Given the description of an element on the screen output the (x, y) to click on. 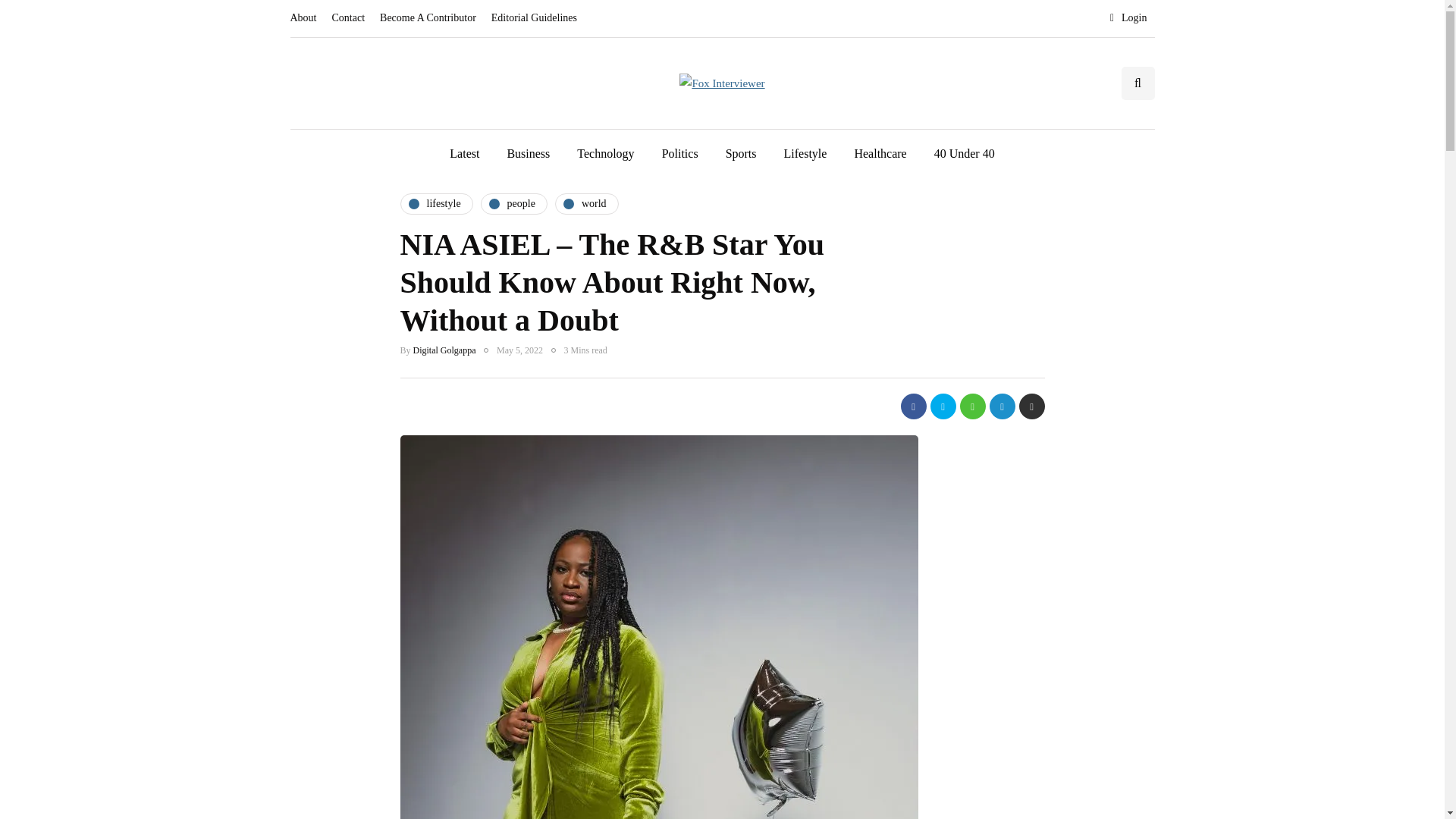
Sports (740, 152)
Share by Email (1032, 406)
Become A Contributor (427, 18)
Share with Facebook (913, 406)
Editorial Guidelines (534, 18)
Login (1128, 18)
lifestyle (436, 202)
Tweet this (942, 406)
40 Under 40 (964, 152)
world (586, 202)
Business (528, 152)
Politics (679, 152)
Lifestyle (805, 152)
Posts by Digital Golgappa (444, 348)
Share to WhatsApp (972, 406)
